Given the description of an element on the screen output the (x, y) to click on. 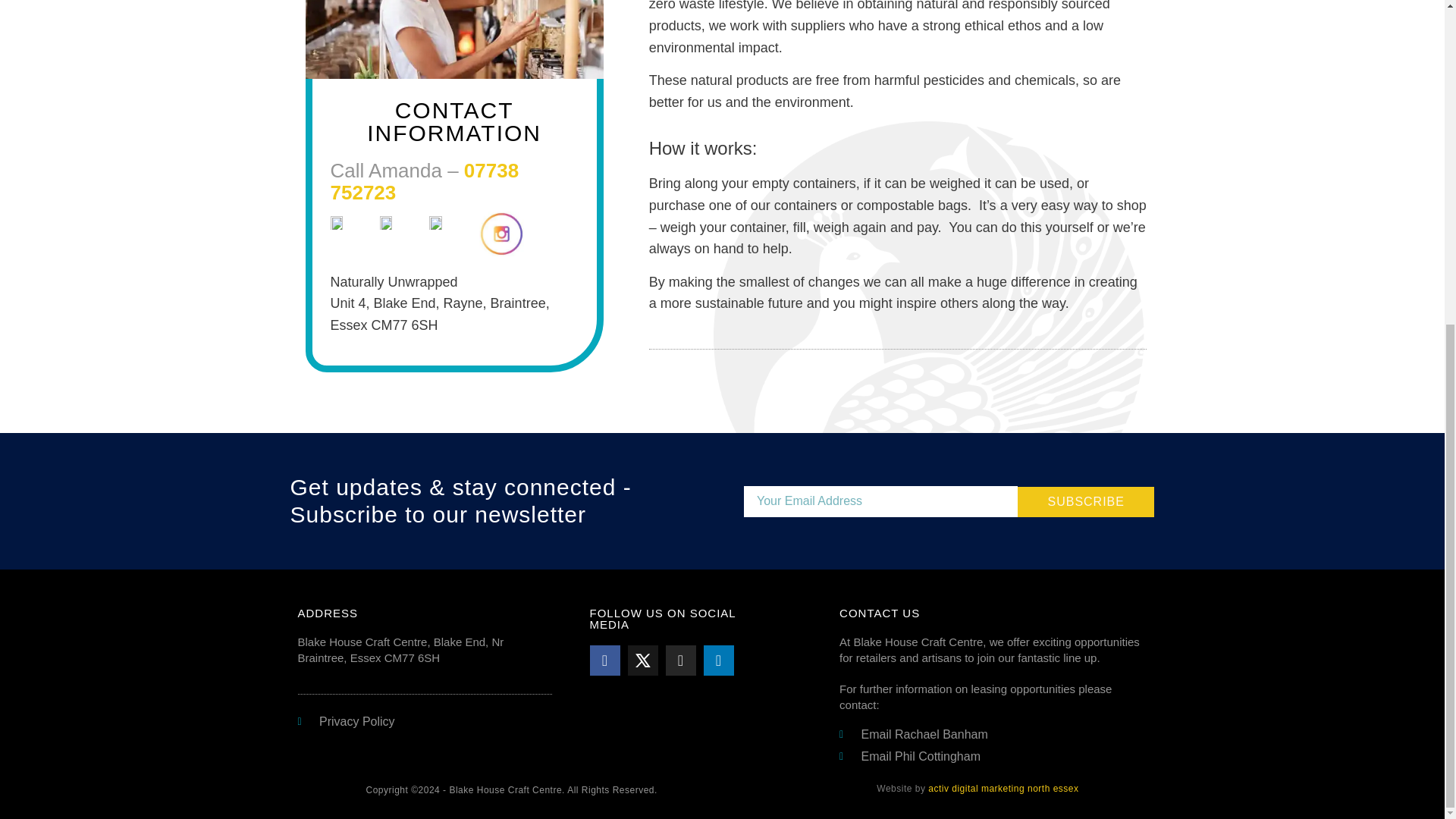
twitter (642, 660)
activ digital marketing north essex (1003, 787)
email Rachael (992, 734)
SUBSCRIBE (1085, 501)
07738 752723 (424, 180)
Email Phil Cottingham (992, 757)
instagram (680, 660)
email Phil (992, 757)
Click to call (424, 180)
facebook (604, 660)
